Given the description of an element on the screen output the (x, y) to click on. 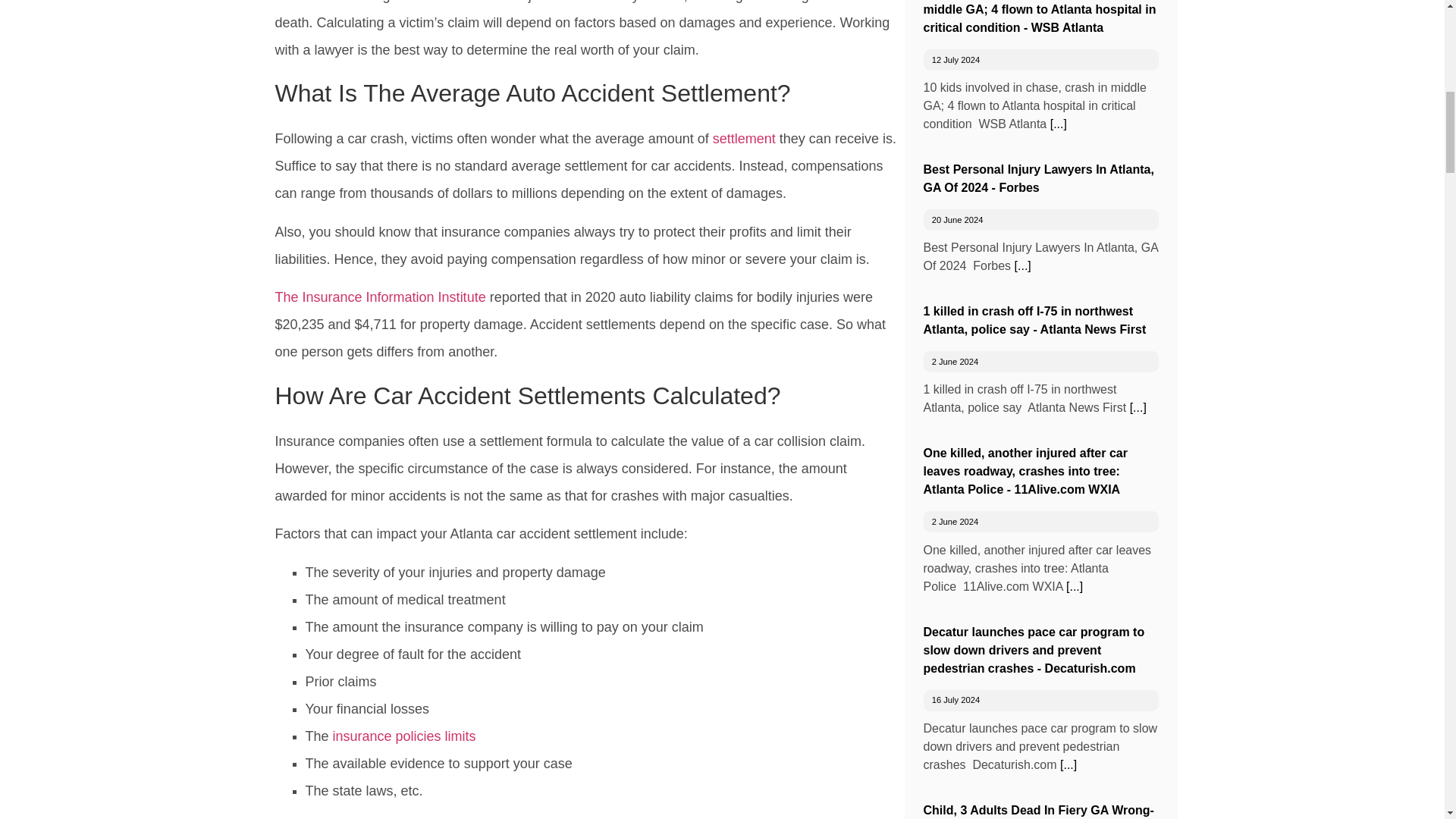
2 June 2024, 7:00 am UTC (954, 361)
Read more (1138, 407)
Read more (1022, 265)
Best Personal Injury Lawyers In Atlanta, GA Of 2024 - Forbes (1038, 178)
20 June 2024, 7:00 am UTC (957, 219)
12 July 2024, 11:05 am UTC (955, 59)
Read more (1058, 123)
